Given the description of an element on the screen output the (x, y) to click on. 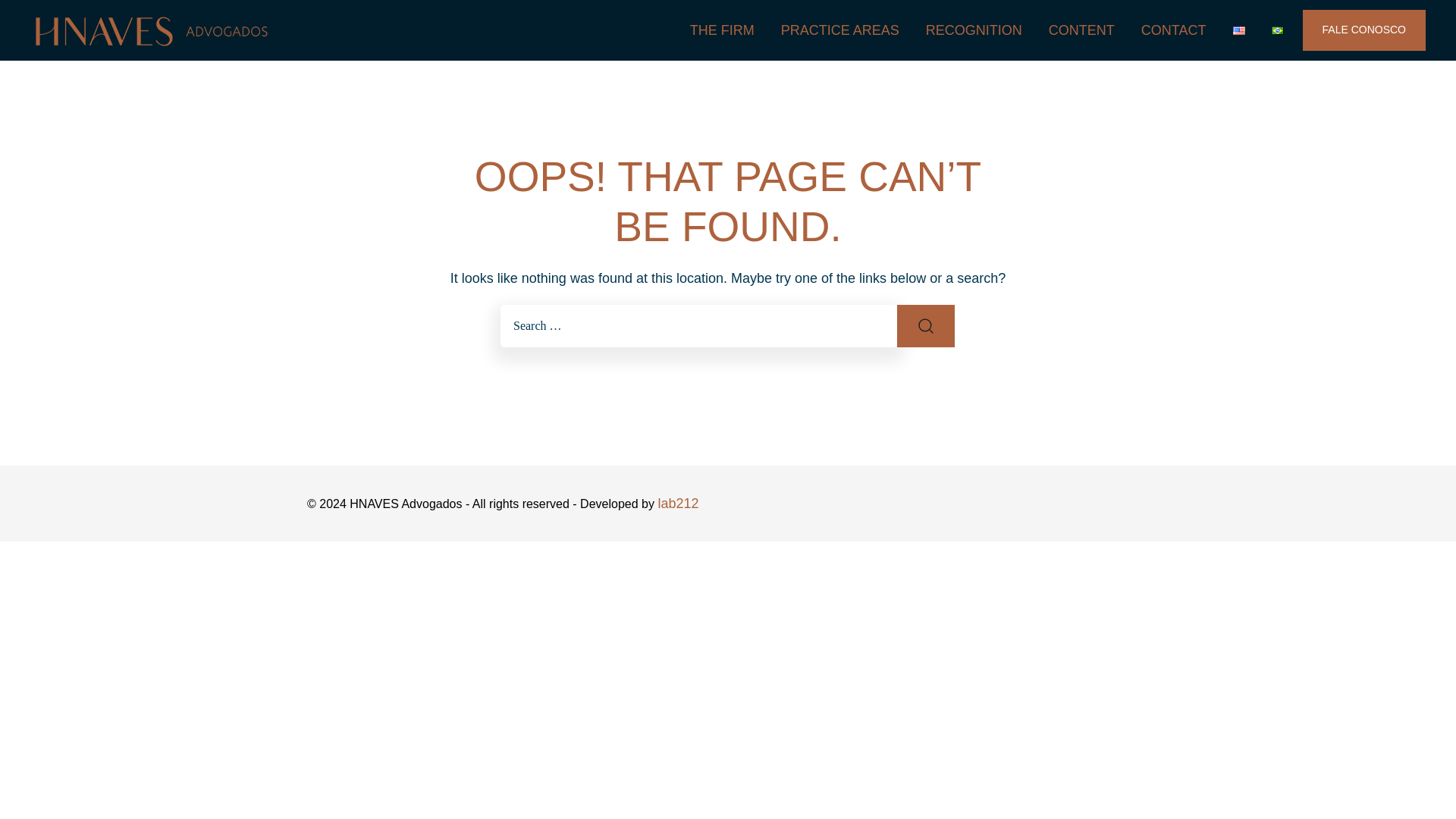
RECOGNITION (974, 30)
Search for the product (925, 325)
HNAVES Advogados (96, 68)
CONTENT (1081, 30)
lab212 (678, 503)
CONTACT (1174, 30)
Search (925, 325)
FALE CONOSCO (1364, 29)
PRACTICE AREAS (839, 30)
THE FIRM (722, 30)
